Given the description of an element on the screen output the (x, y) to click on. 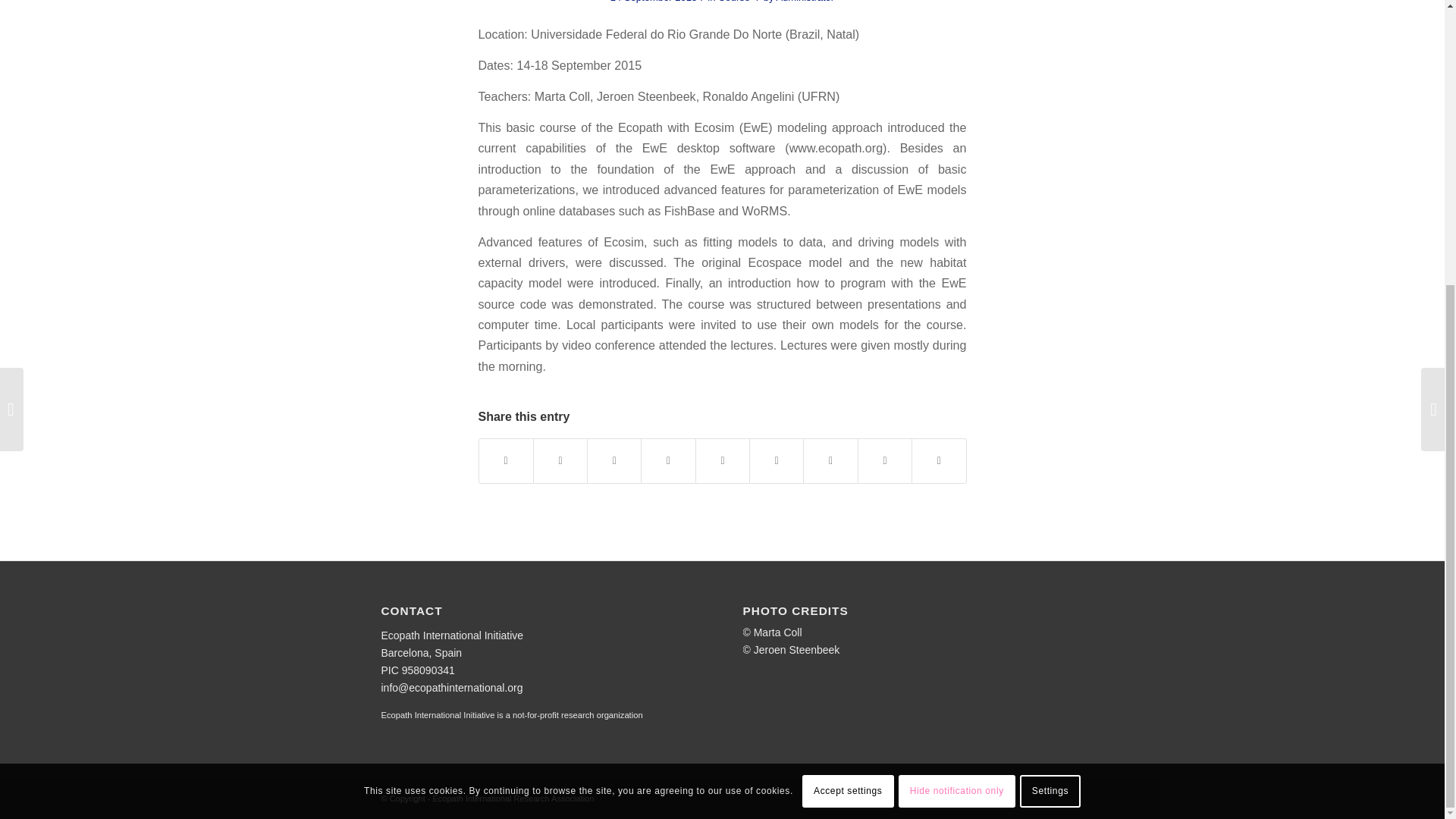
Accept settings (847, 360)
Settings (1050, 360)
Hide notification only (956, 360)
Posts by Administrator (805, 1)
Administrator (805, 1)
Facebook (1051, 797)
Course (733, 1)
